Given the description of an element on the screen output the (x, y) to click on. 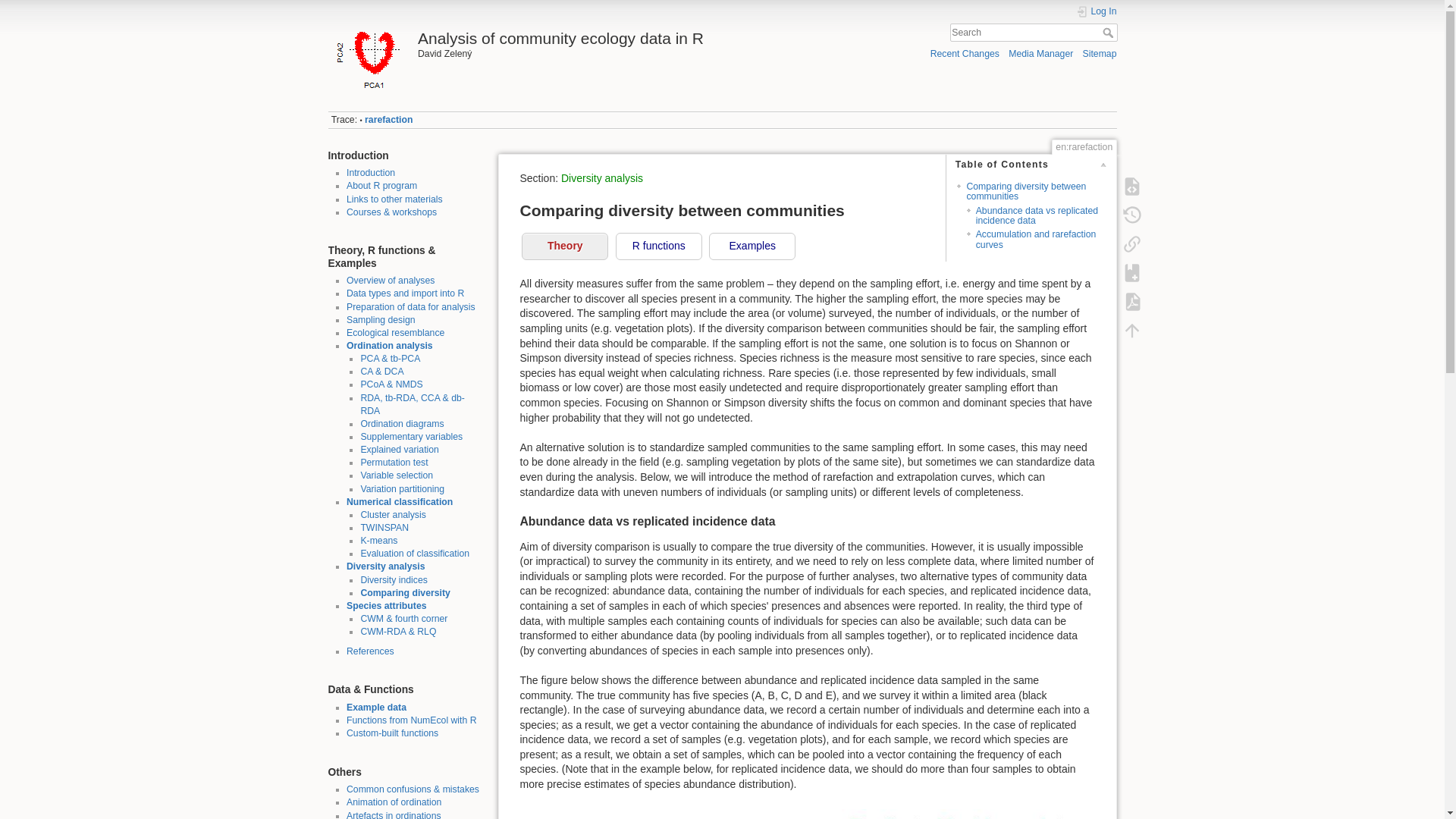
en:links (394, 199)
rarefaction (388, 119)
Explained variation (399, 449)
TWINSPAN (384, 527)
Numerical classification (399, 501)
Ecological resemblance (395, 332)
Media Manager (1041, 53)
Links to other materials (394, 199)
Ordination analysis (389, 345)
Ordination diagrams (401, 423)
